Given the description of an element on the screen output the (x, y) to click on. 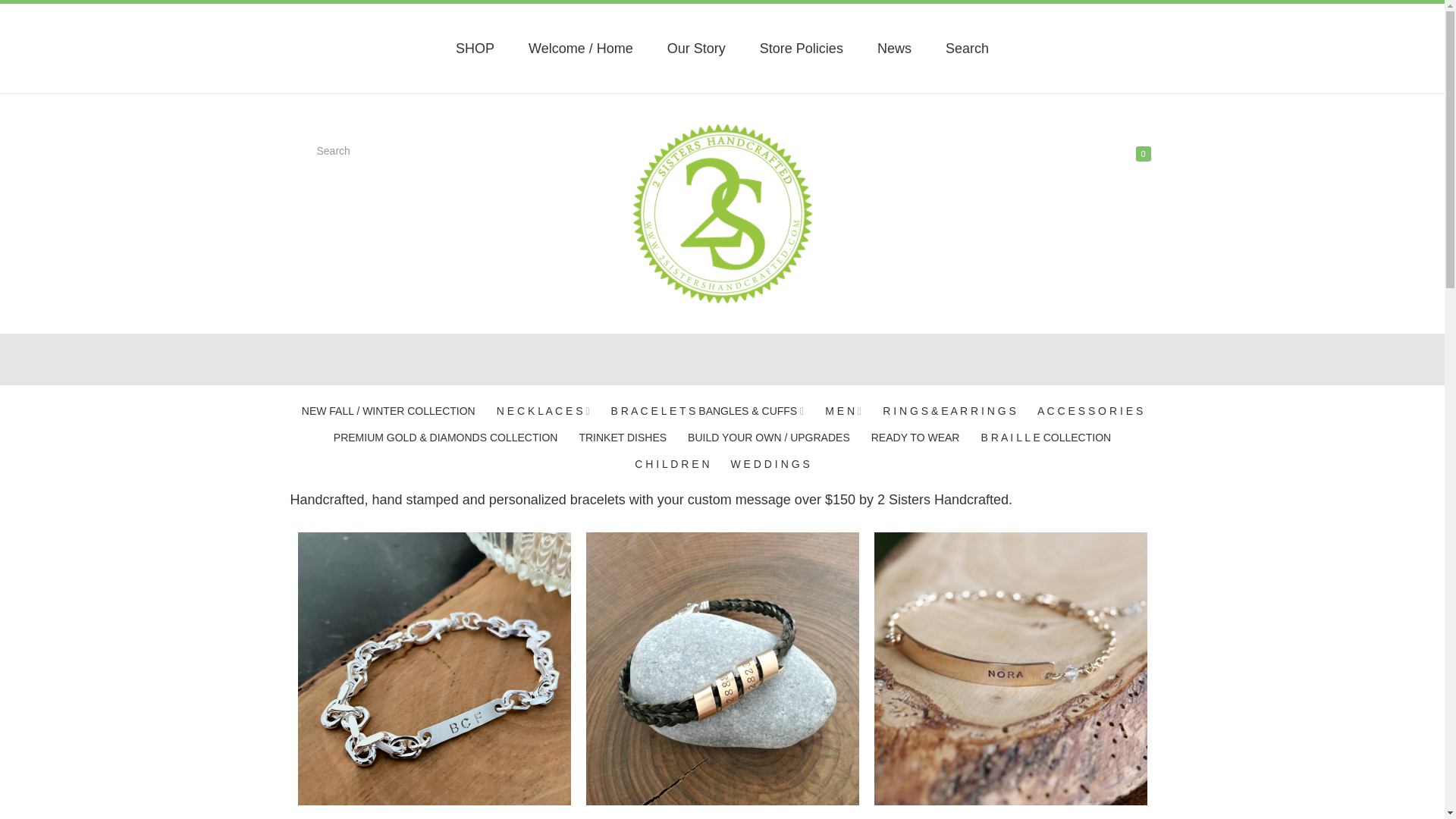
Search Element type: text (966, 48)
Welcome / Home Element type: text (580, 48)
R I N G S & E A R R I N G S Element type: text (949, 410)
NEW FALL / WINTER COLLECTION Element type: text (388, 410)
BUILD YOUR OWN / UPGRADES Element type: text (768, 437)
Cart Element type: text (1119, 154)
N E C K L A C E S Element type: text (539, 410)
A C C E S S O R I E S Element type: text (1089, 410)
B R A C E L E T S BANGLES & CUFFS Element type: text (704, 410)
SHOP Element type: text (474, 48)
0 Element type: text (1143, 153)
Search Element type: text (33, 15)
B R A I L L E COLLECTION Element type: text (1045, 437)
M E N Element type: text (839, 410)
Our Story Element type: text (696, 48)
READY TO WEAR Element type: text (915, 437)
TRINKET DISHES Element type: text (622, 437)
W E D D I N G S Element type: text (770, 464)
News Element type: text (894, 48)
Search Element type: hover (361, 151)
Store Policies Element type: text (801, 48)
PREMIUM GOLD & DIAMONDS COLLECTION Element type: text (445, 437)
C H I L D R E N Element type: text (671, 464)
Home Element type: hover (721, 213)
